Given the description of an element on the screen output the (x, y) to click on. 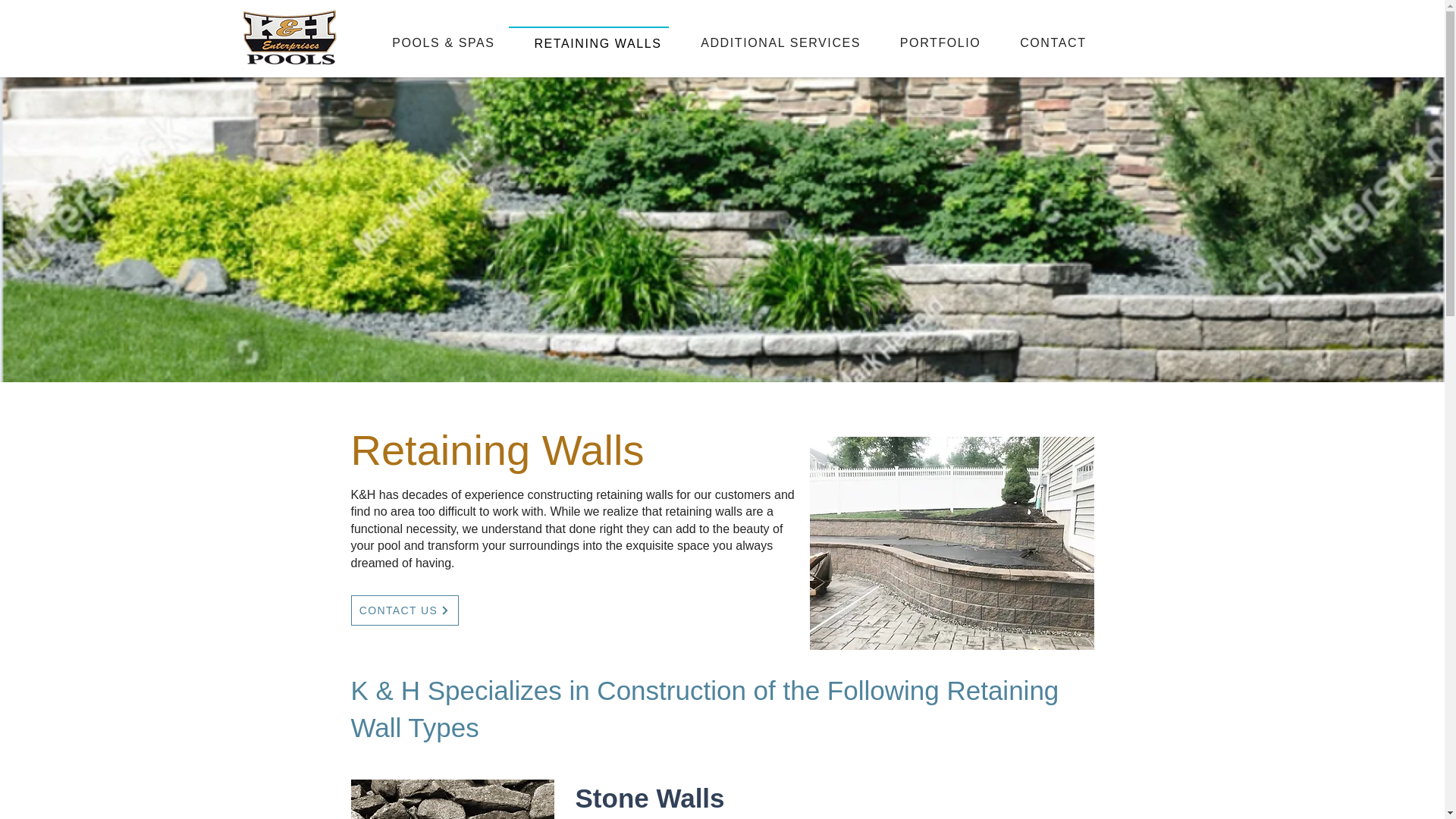
kH.png (288, 37)
retaining-wall-kandhpools-2.jpg (451, 799)
CONTACT (1043, 42)
retaining-wall-khpools-1.jpg (951, 543)
PORTFOLIO (931, 42)
RETAINING WALLS (588, 42)
CONTACT US (404, 610)
ADDITIONAL SERVICES (771, 42)
